Given the description of an element on the screen output the (x, y) to click on. 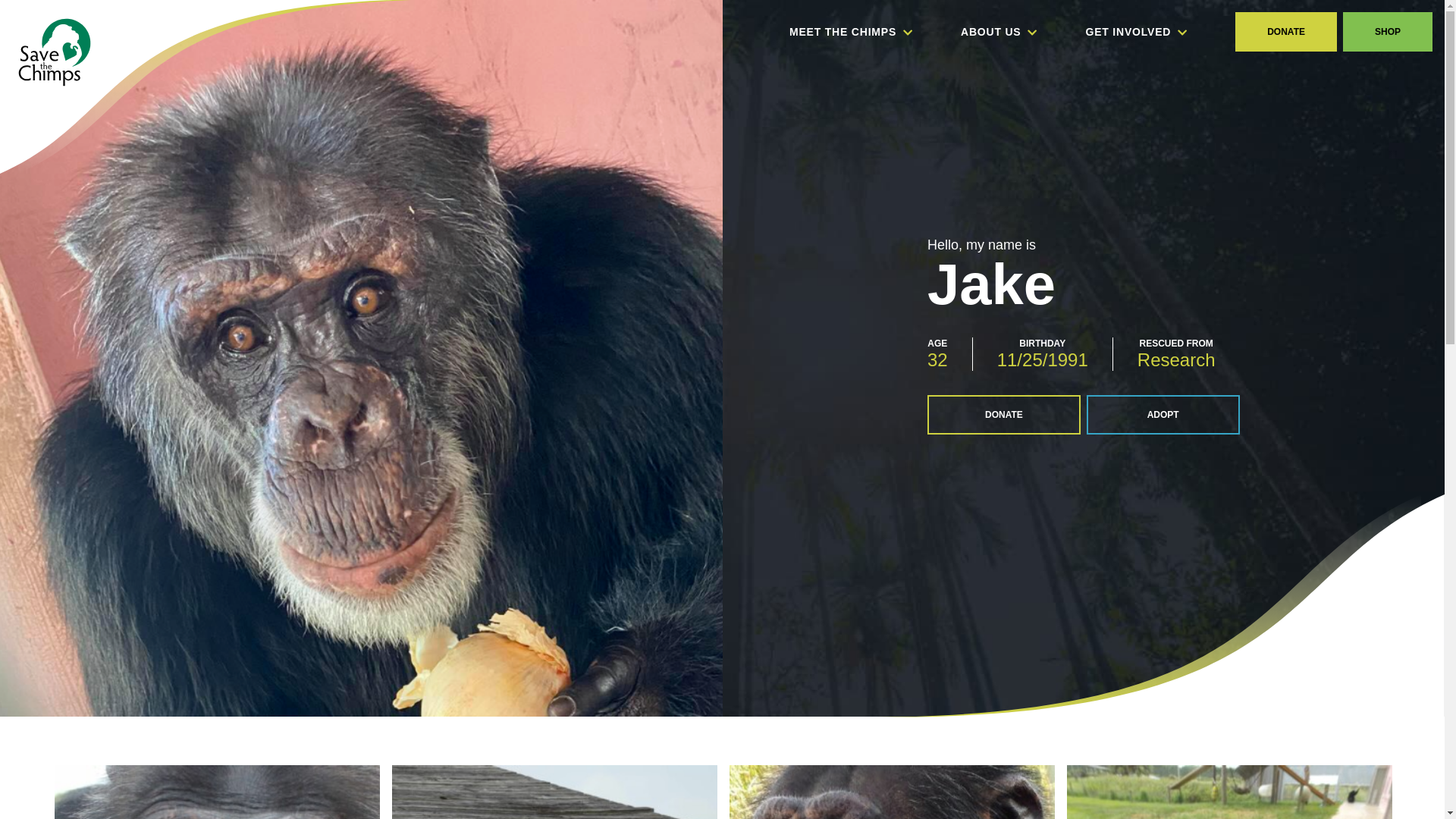
SHOP (1387, 31)
GET INVOLVED (1136, 31)
DONATE (1285, 31)
ABOUT US (998, 31)
MEET THE CHIMPS (850, 31)
